Given the description of an element on the screen output the (x, y) to click on. 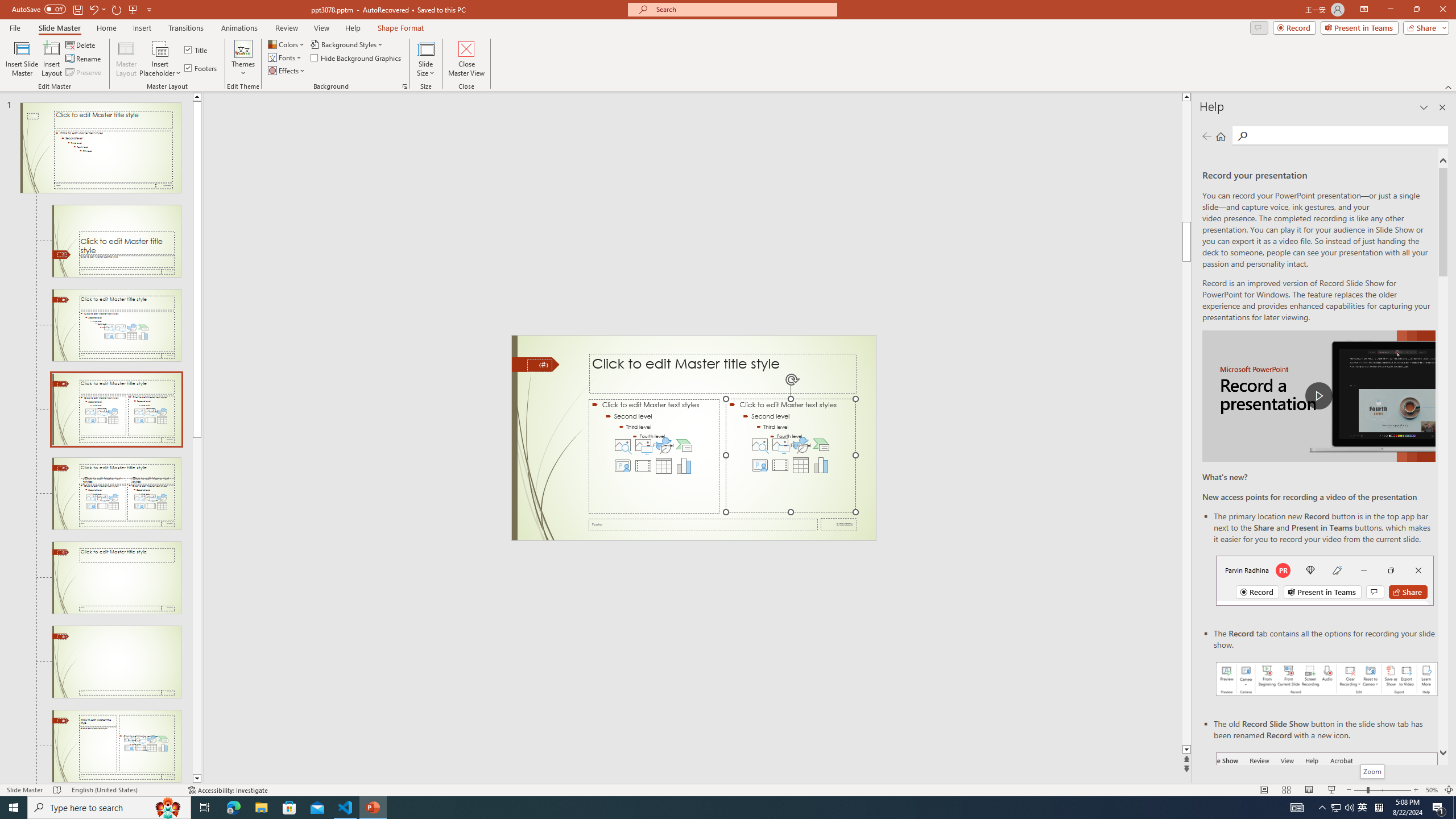
Zoom 50% (1431, 790)
Slide Comparison Layout: used by no slides (116, 577)
Themes (243, 58)
Effects (287, 69)
play Record a Presentation (1318, 395)
